Given the description of an element on the screen output the (x, y) to click on. 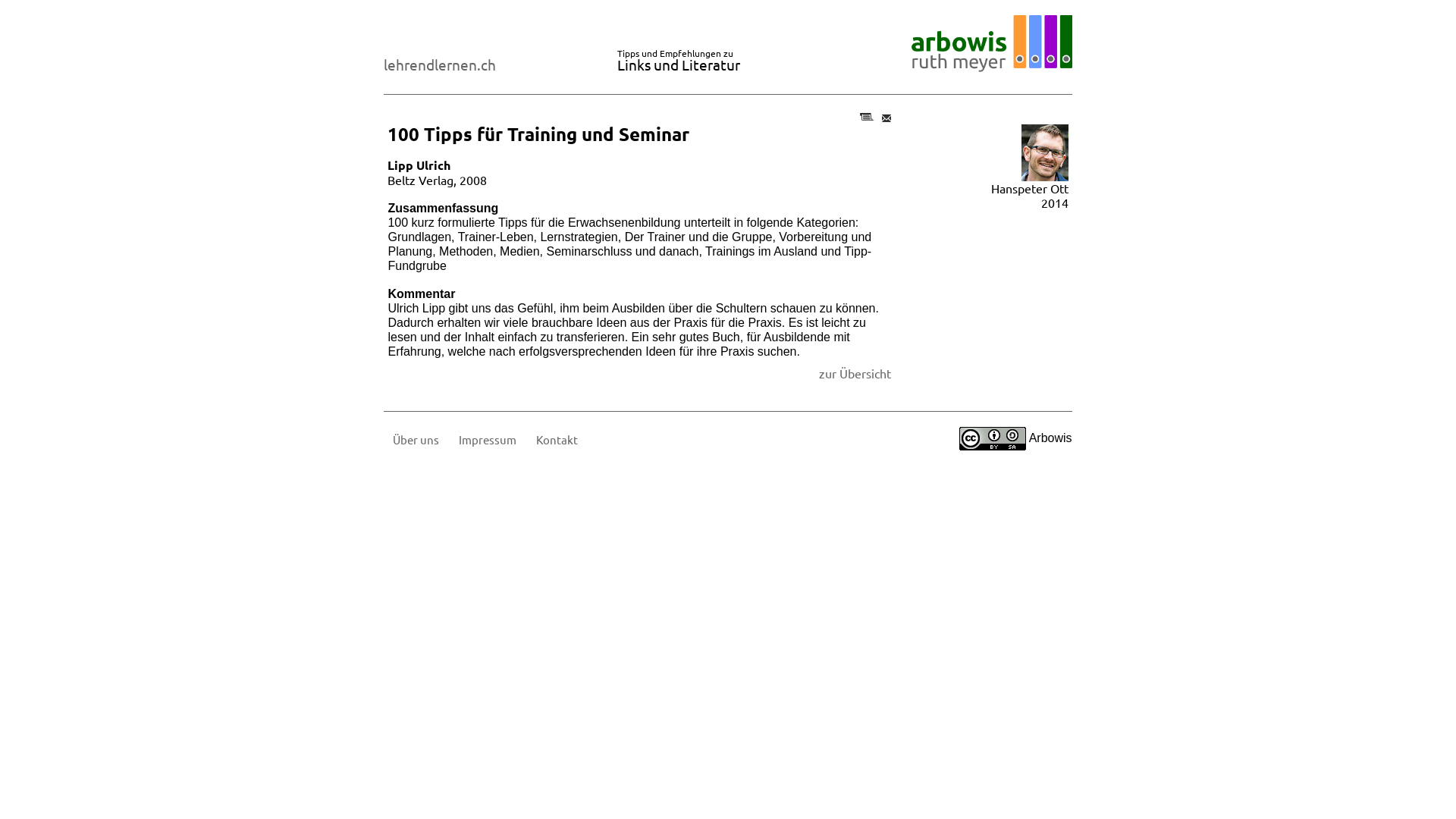
Kontakt Element type: text (556, 439)
Impressum Element type: text (487, 439)
lehrendlernen.ch Element type: text (439, 64)
